Given the description of an element on the screen output the (x, y) to click on. 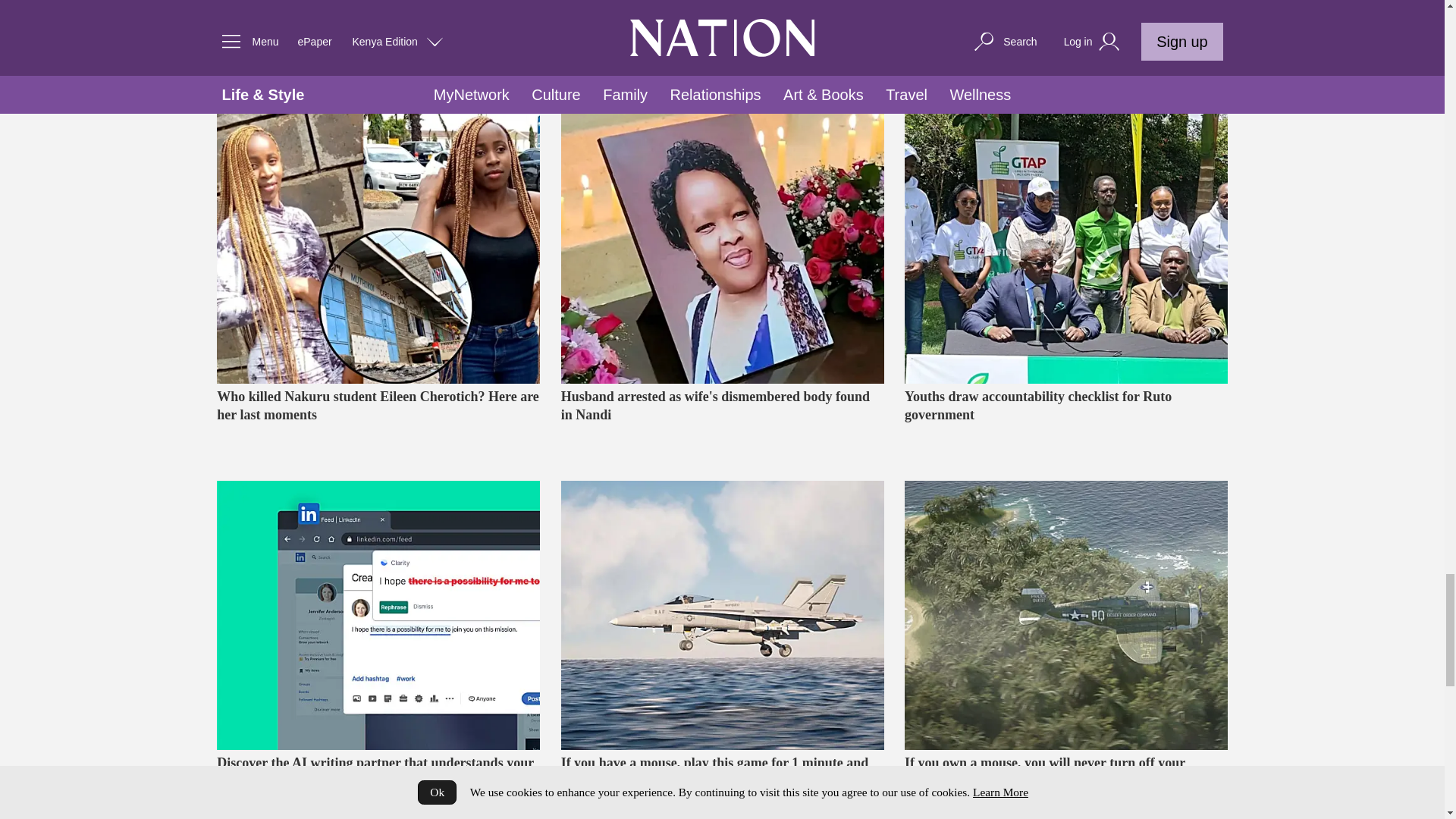
Husband arrested as wife's dismembered body found in Nandi (721, 423)
Youths draw accountability checklist for Ruto government (1065, 423)
Youths draw accountability checklist for Ruto government (1065, 248)
Husband arrested as wife's dismembered body found in Nandi (721, 248)
